Given the description of an element on the screen output the (x, y) to click on. 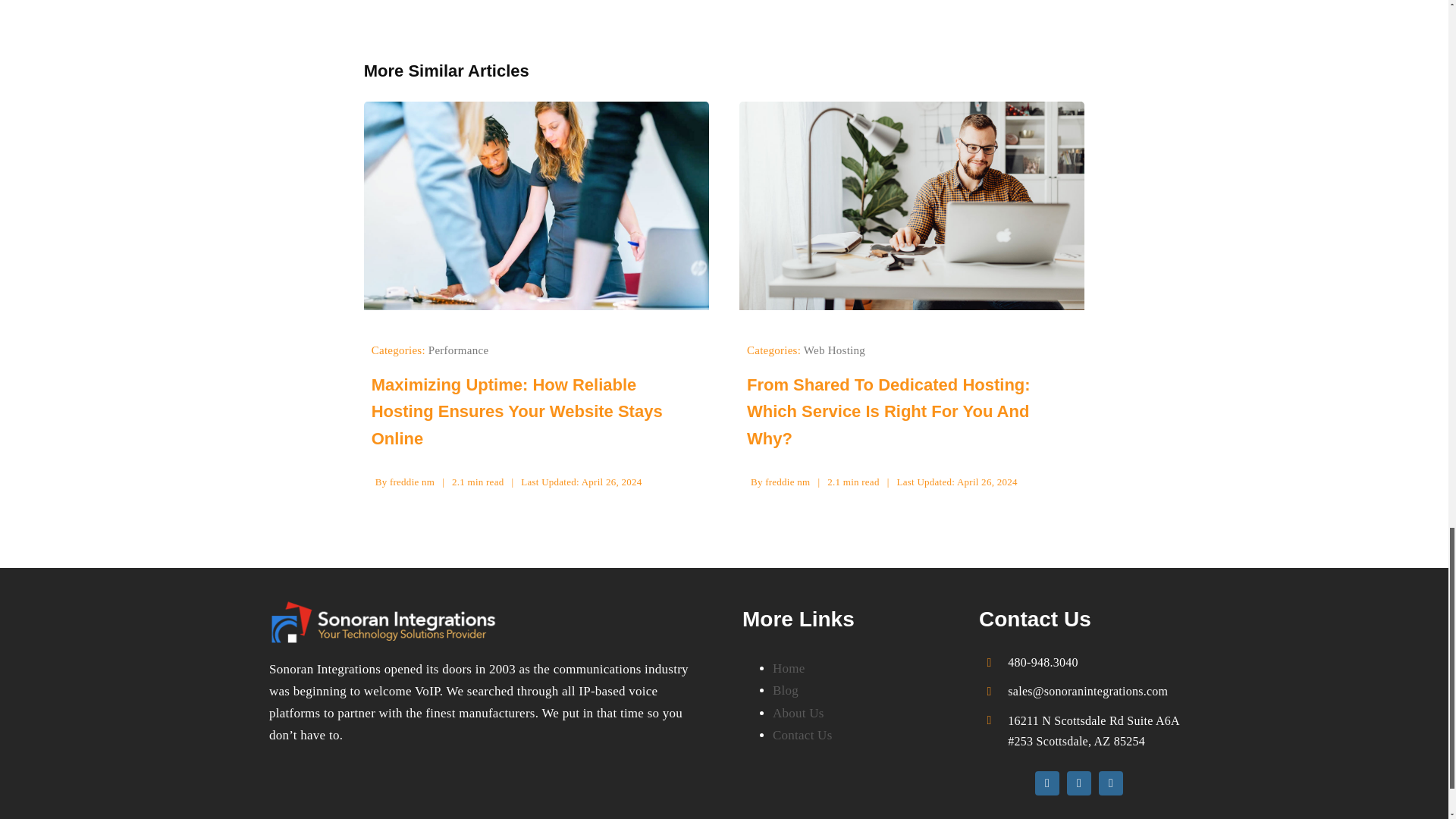
LinkedIn (1110, 783)
Twitter (1078, 783)
Posts by freddie nm (787, 481)
Posts by freddie nm (411, 481)
Facebook (1047, 783)
